Given the description of an element on the screen output the (x, y) to click on. 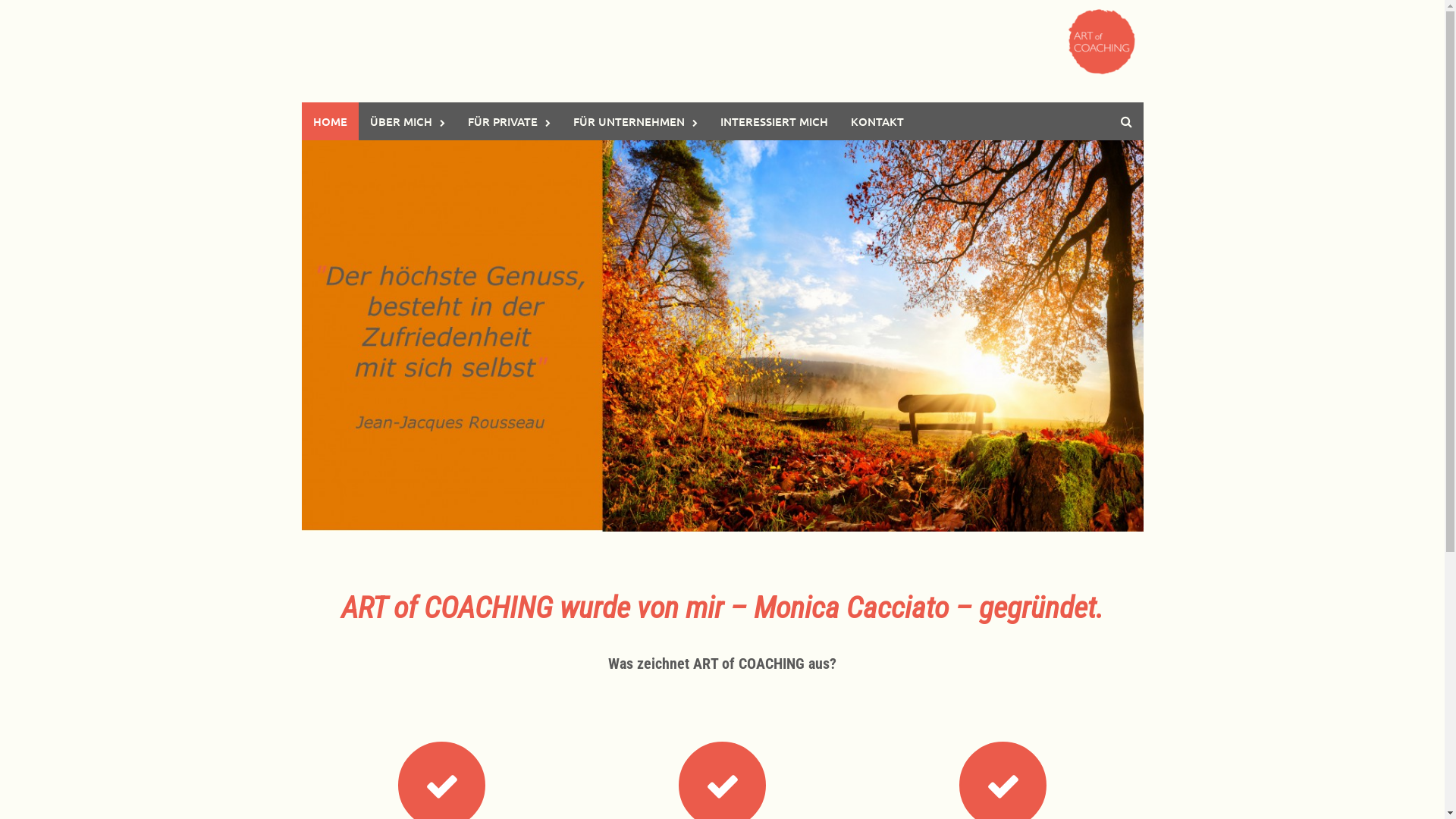
HOME Element type: text (329, 121)
KONTAKT Element type: text (876, 121)
INTERESSIERT MICH Element type: text (773, 121)
